Given the description of an element on the screen output the (x, y) to click on. 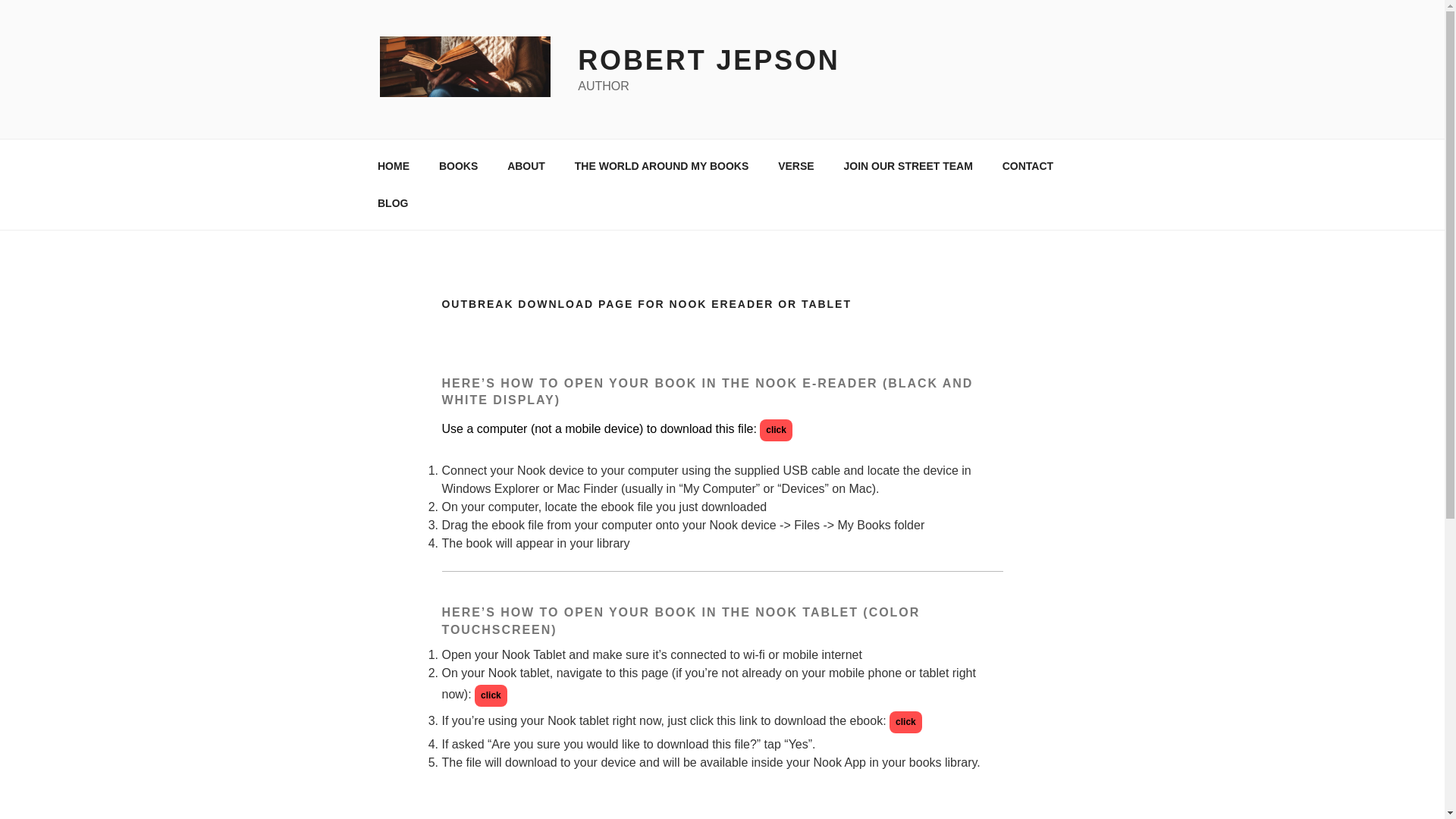
click (905, 722)
click (490, 695)
VERSE (796, 165)
BLOG (392, 203)
ROBERT JEPSON (709, 60)
THE WORLD AROUND MY BOOKS (660, 165)
click (776, 430)
ABOUT (527, 165)
HOME (393, 165)
CONTACT (1026, 165)
BOOKS (457, 165)
JOIN OUR STREET TEAM (907, 165)
